Given the description of an element on the screen output the (x, y) to click on. 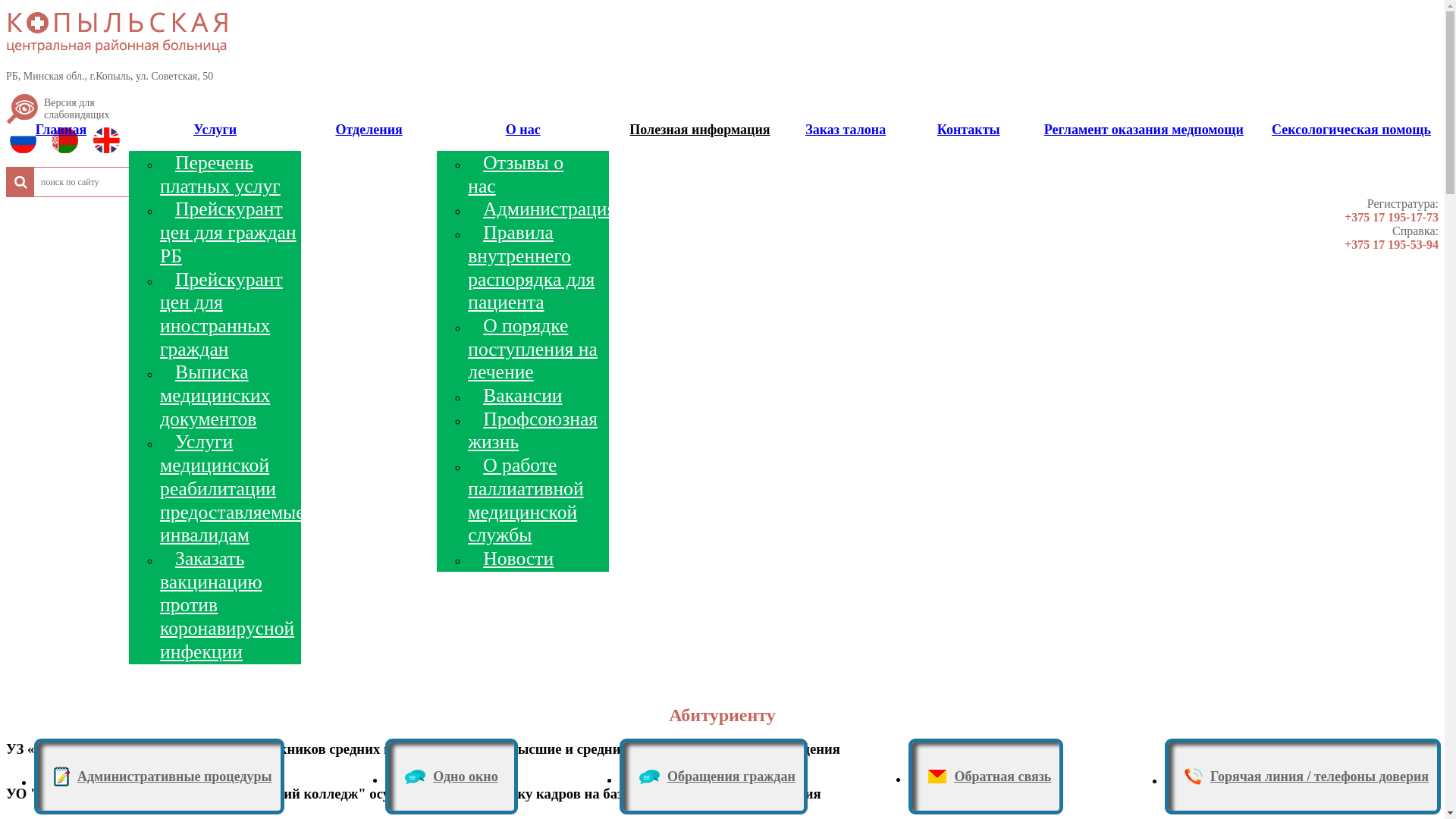
Belarusian Element type: hover (68, 144)
English Element type: hover (110, 144)
Russian Element type: hover (26, 144)
